Given the description of an element on the screen output the (x, y) to click on. 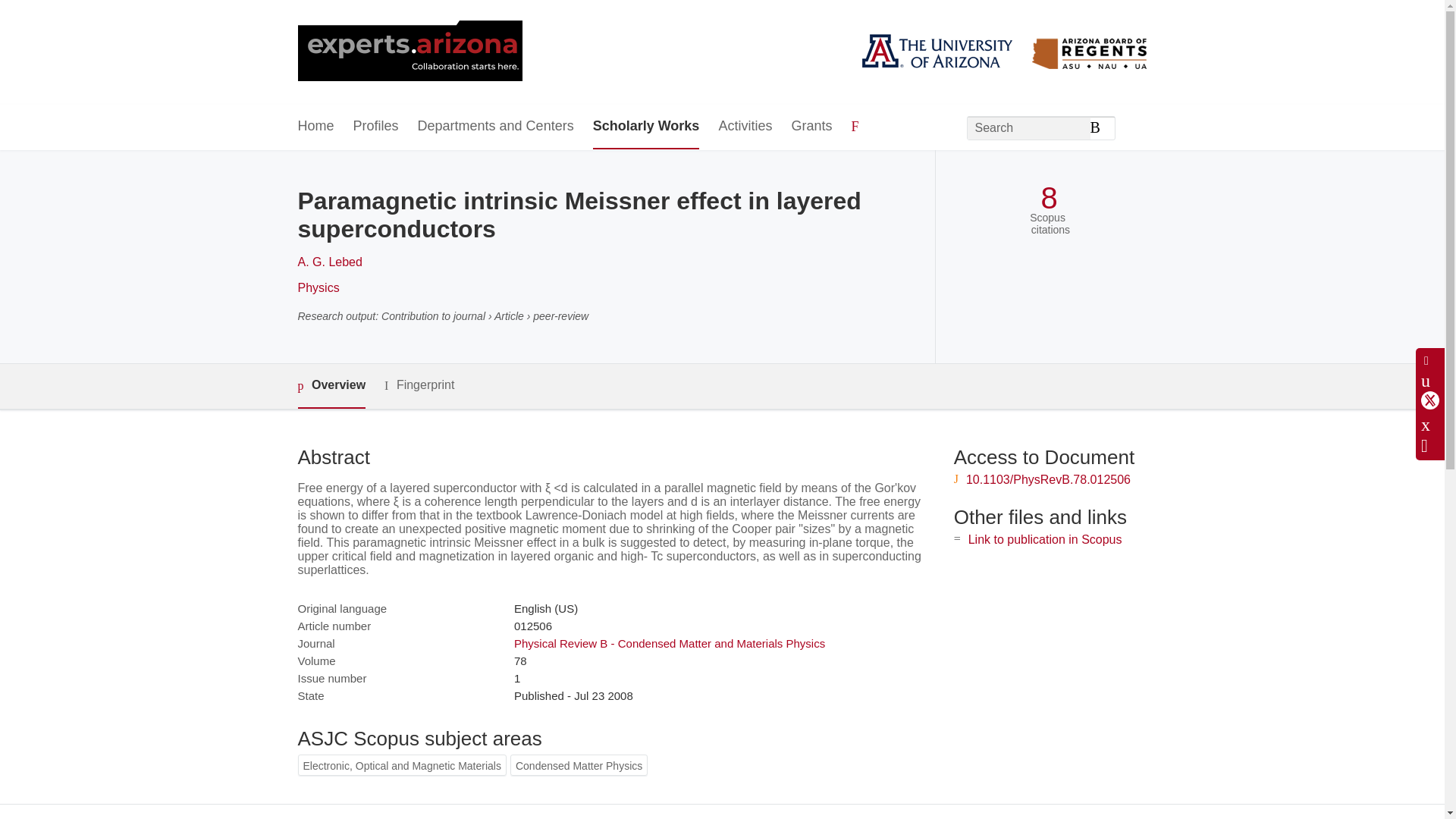
A. G. Lebed (329, 261)
Departments and Centers (495, 126)
Fingerprint (419, 385)
Grants (810, 126)
Link to publication in Scopus (1045, 539)
Profiles (375, 126)
Physical Review B - Condensed Matter and Materials Physics (669, 643)
Scholarly Works (646, 126)
Overview (331, 385)
University of Arizona Home (409, 52)
Activities (744, 126)
Physics (318, 287)
